Given the description of an element on the screen output the (x, y) to click on. 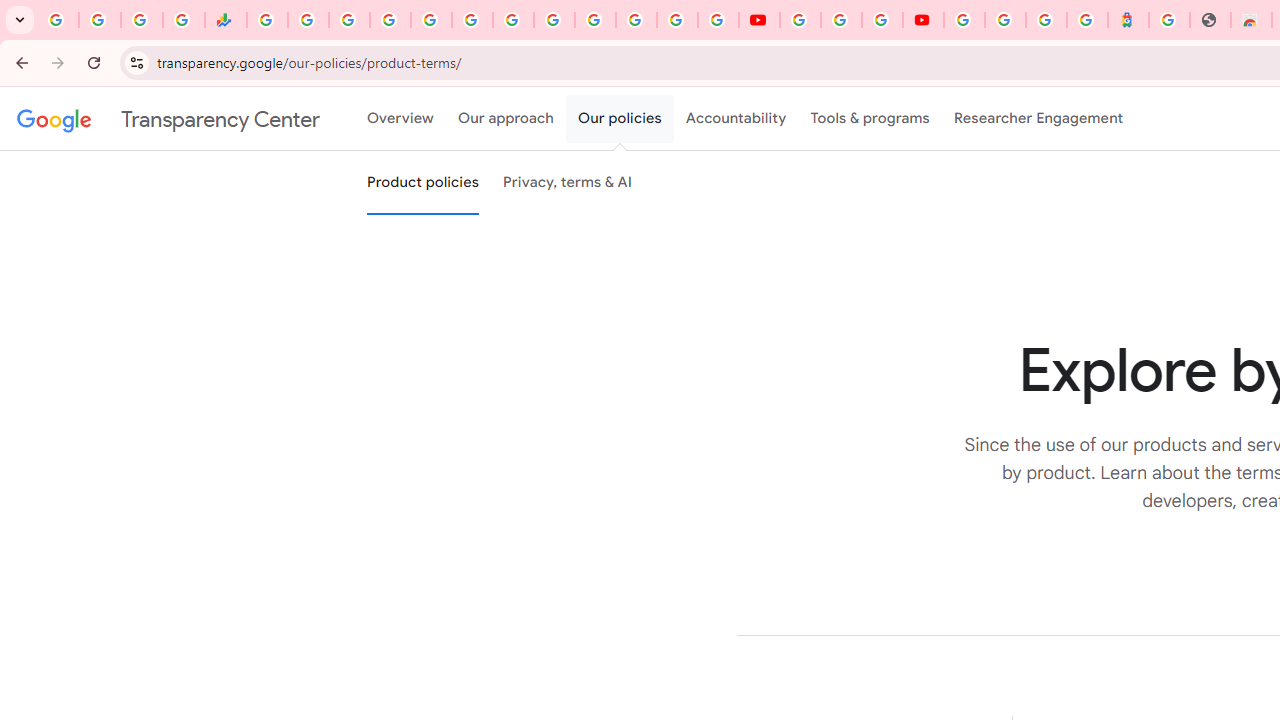
YouTube (758, 20)
Create your Google Account (881, 20)
Privacy Checkup (717, 20)
Accountability (735, 119)
Tools & programs (869, 119)
